Given the description of an element on the screen output the (x, y) to click on. 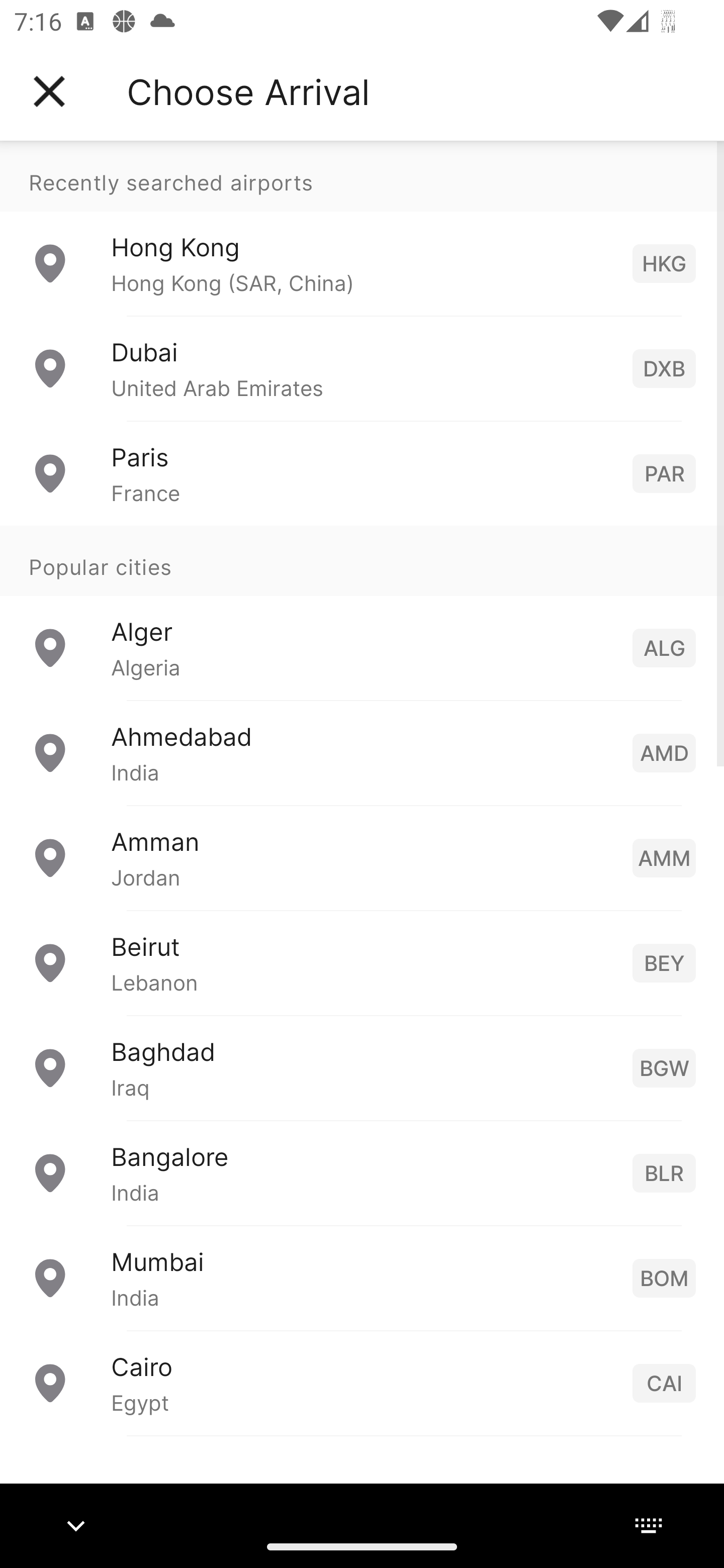
Choose Arrival (247, 91)
Recently searched airports (362, 176)
Dubai United Arab Emirates DXB (362, 367)
Paris France PAR (362, 472)
Popular cities Alger Algeria ALG (362, 612)
Popular cities (362, 560)
Ahmedabad India AMD (362, 751)
Amman Jordan AMM (362, 856)
Beirut Lebanon BEY (362, 961)
Baghdad Iraq BGW (362, 1066)
Bangalore India BLR (362, 1171)
Mumbai India BOM (362, 1276)
Cairo Egypt CAI (362, 1381)
